Given the description of an element on the screen output the (x, y) to click on. 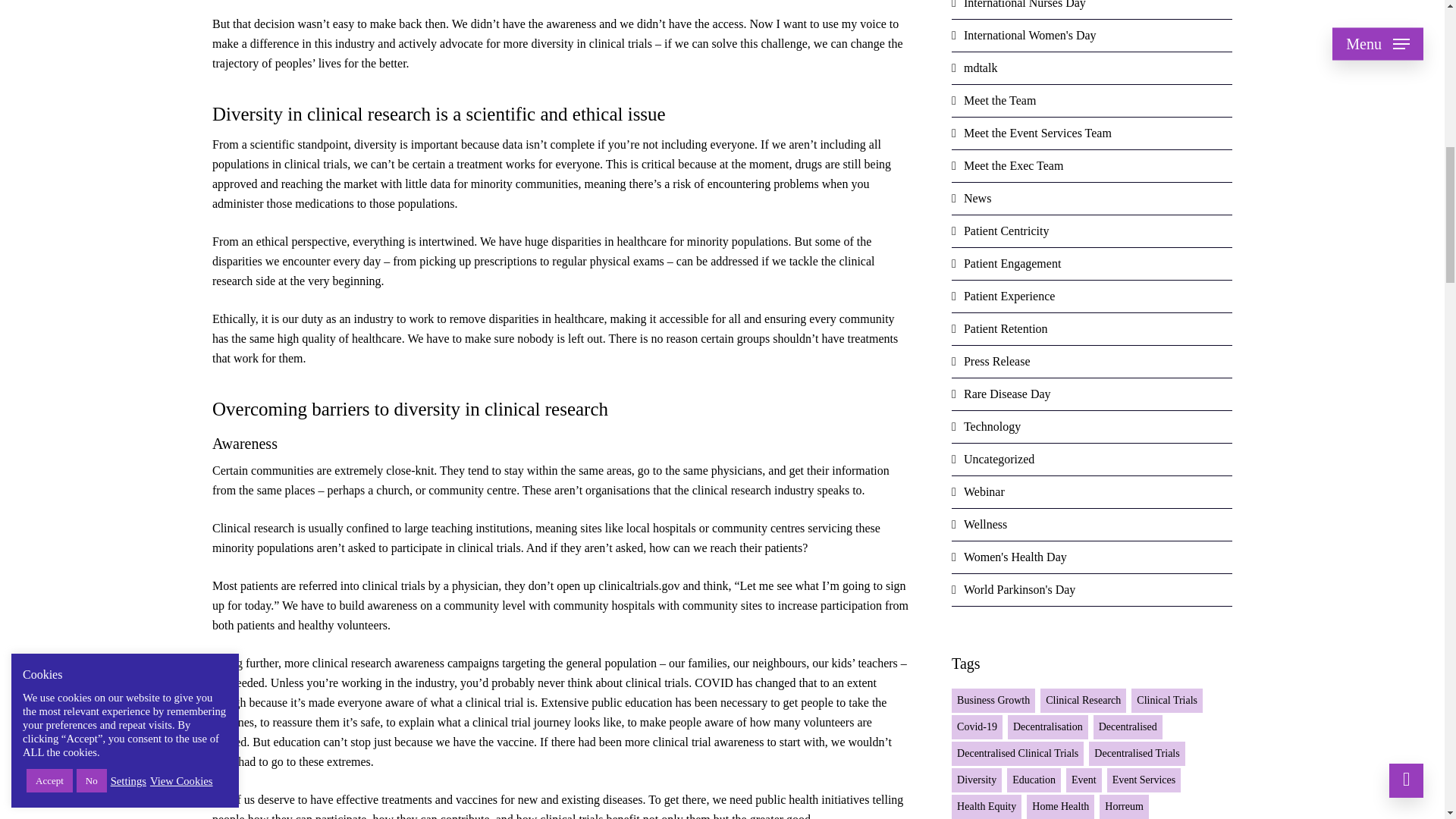
International Nurses Day (1091, 9)
Meet the Exec Team (1091, 165)
Patient Engagement (1091, 264)
Patient Centricity (1091, 231)
Press Release (1091, 361)
Meet the Team (1091, 101)
International Women's Day (1091, 35)
Meet the Event Services Team (1091, 133)
Patient Experience (1091, 296)
Patient Retention (1091, 328)
